Given the description of an element on the screen output the (x, y) to click on. 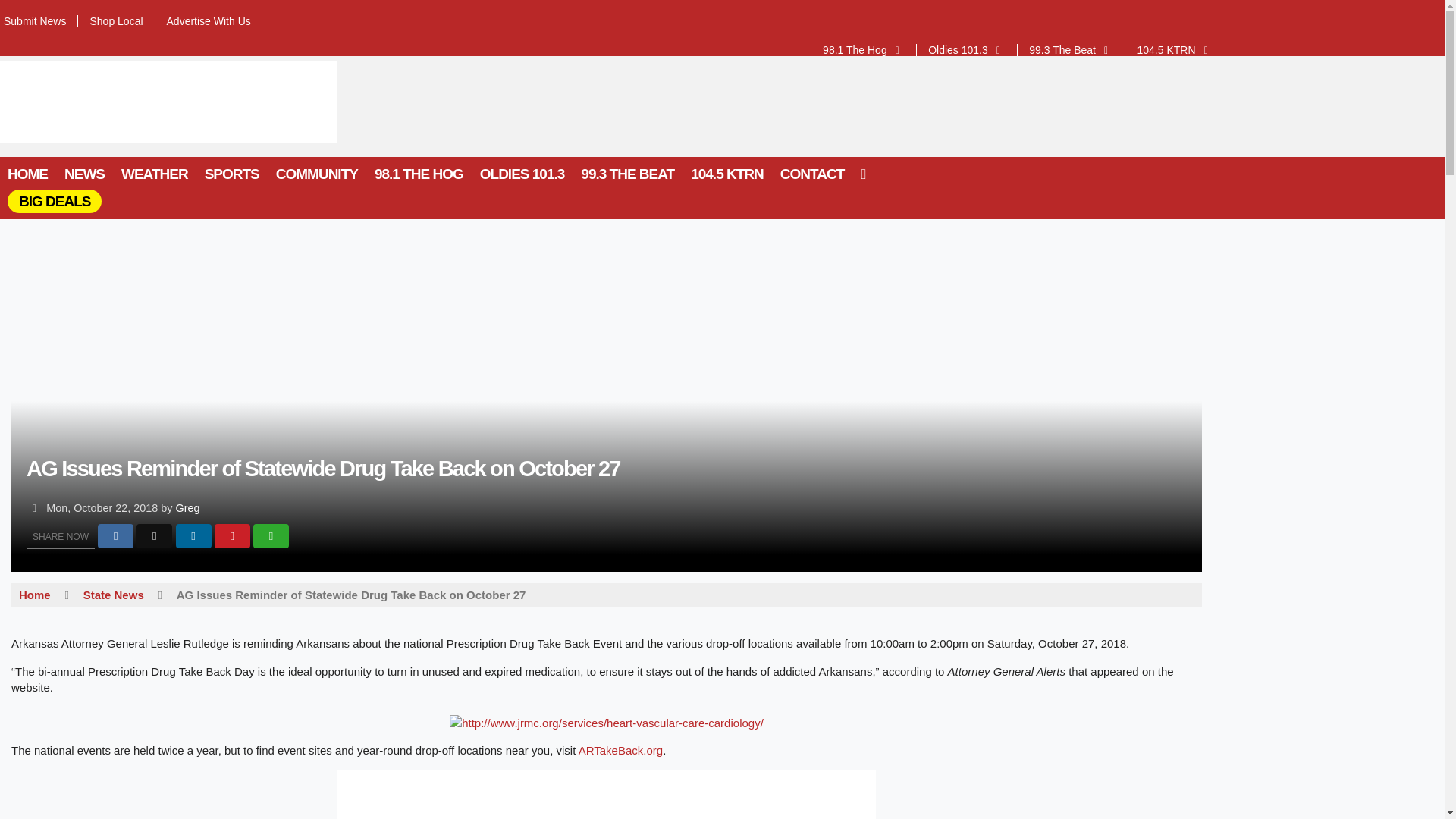
Share to X (153, 535)
Share to Pinterest (232, 535)
Posts by Greg (188, 508)
Share to LinkedIn (193, 535)
Share to Facebook (115, 535)
